Given the description of an element on the screen output the (x, y) to click on. 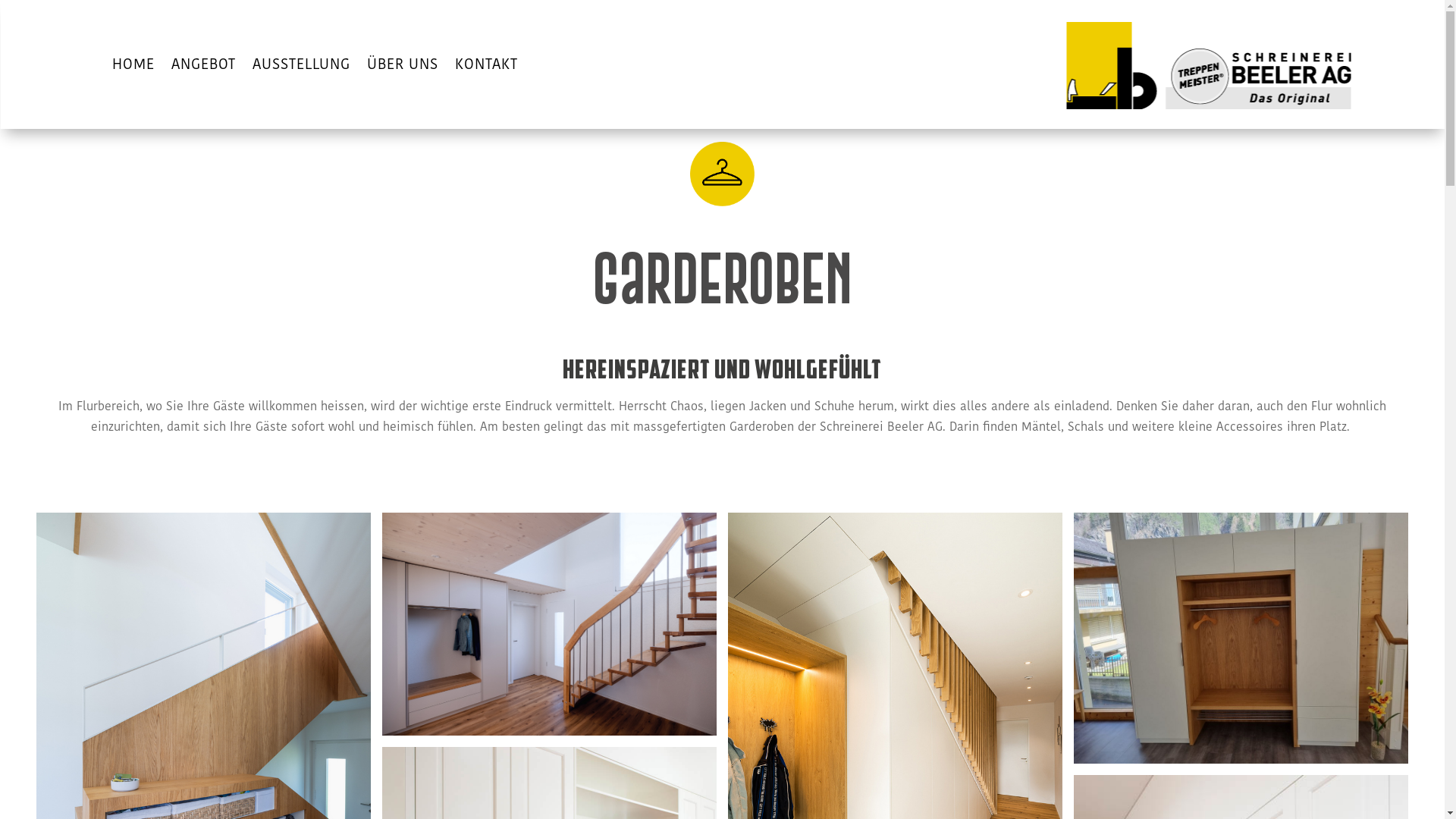
SchreinereiBeeler_Elemente_Angebot_Garderoben_helb Element type: hover (722, 173)
SchreinereiBeeler_Homepage_Elemente_13 Element type: hover (1208, 65)
HOME Element type: text (133, 67)
